Given the description of an element on the screen output the (x, y) to click on. 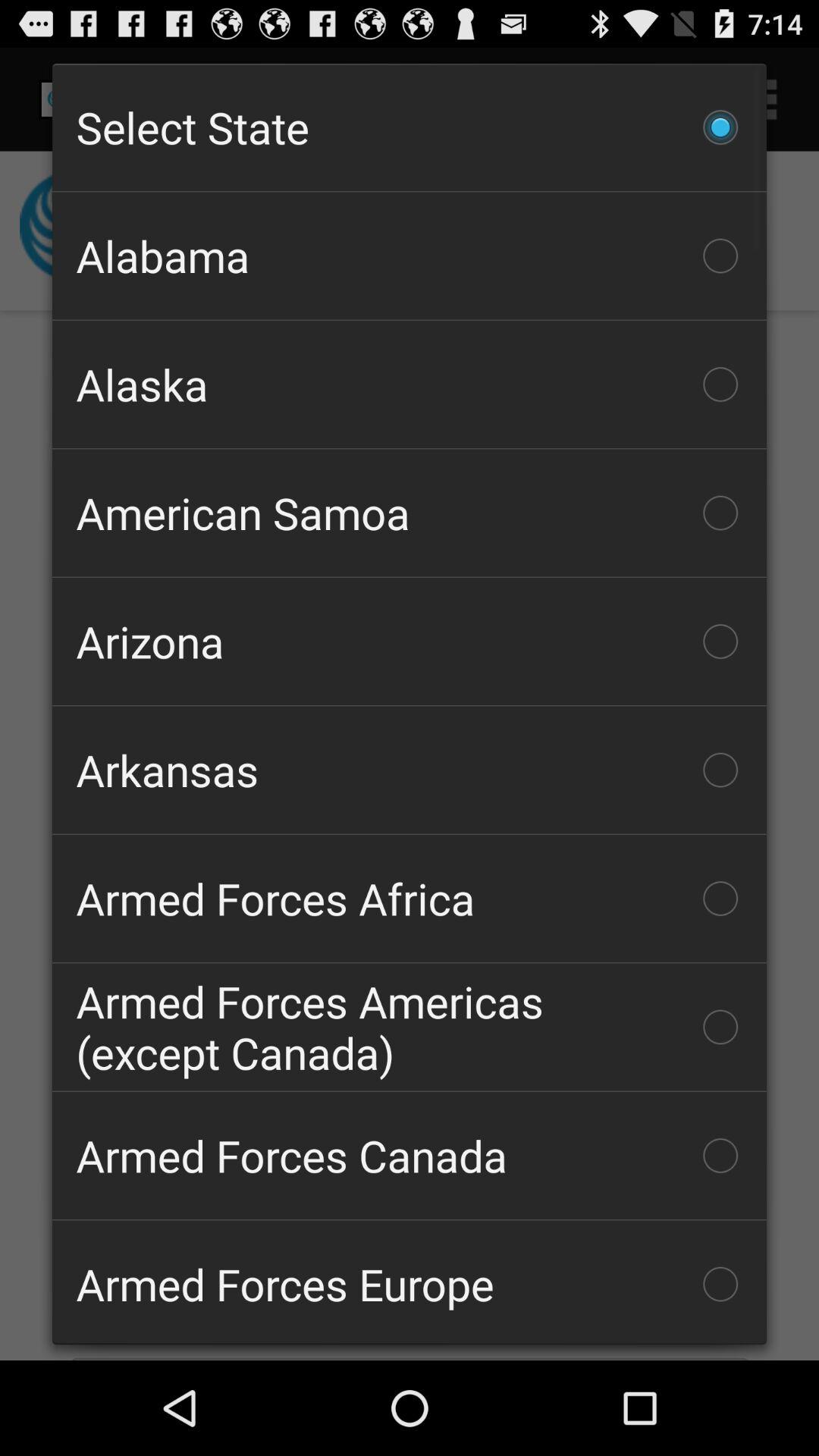
press item below select state icon (409, 255)
